Given the description of an element on the screen output the (x, y) to click on. 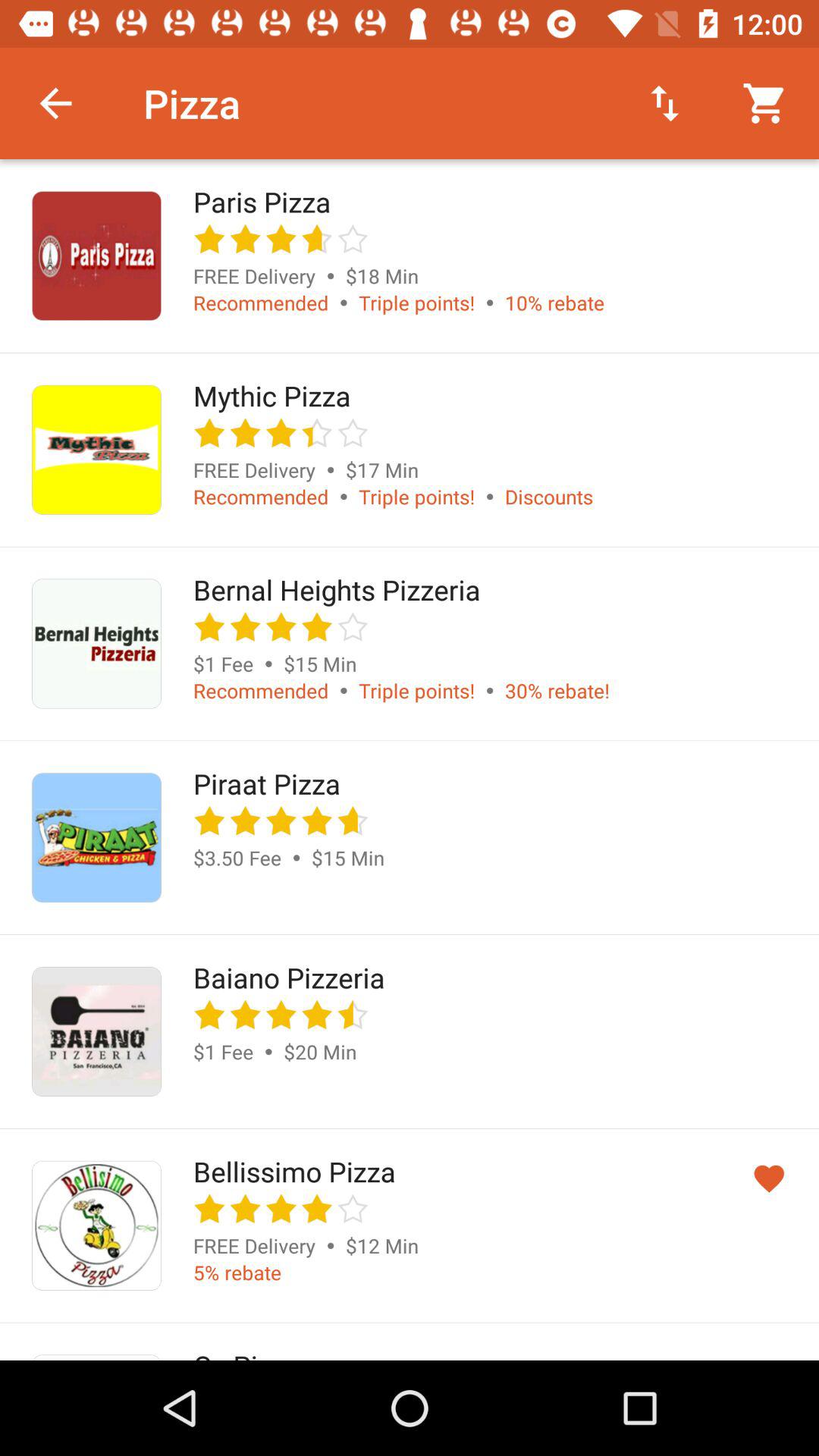
choose item next to pizza item (664, 103)
